Given the description of an element on the screen output the (x, y) to click on. 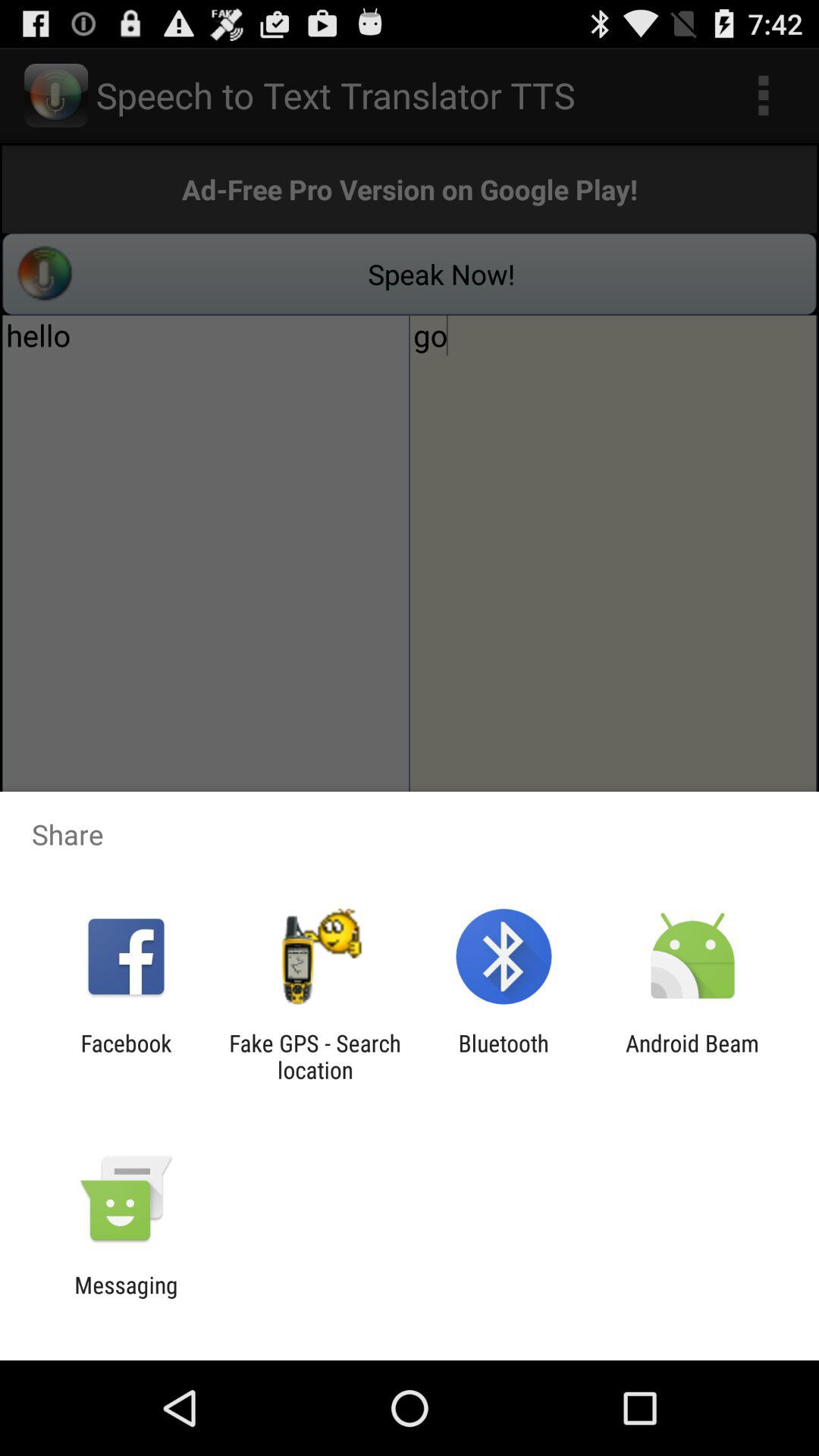
tap facebook icon (125, 1056)
